Given the description of an element on the screen output the (x, y) to click on. 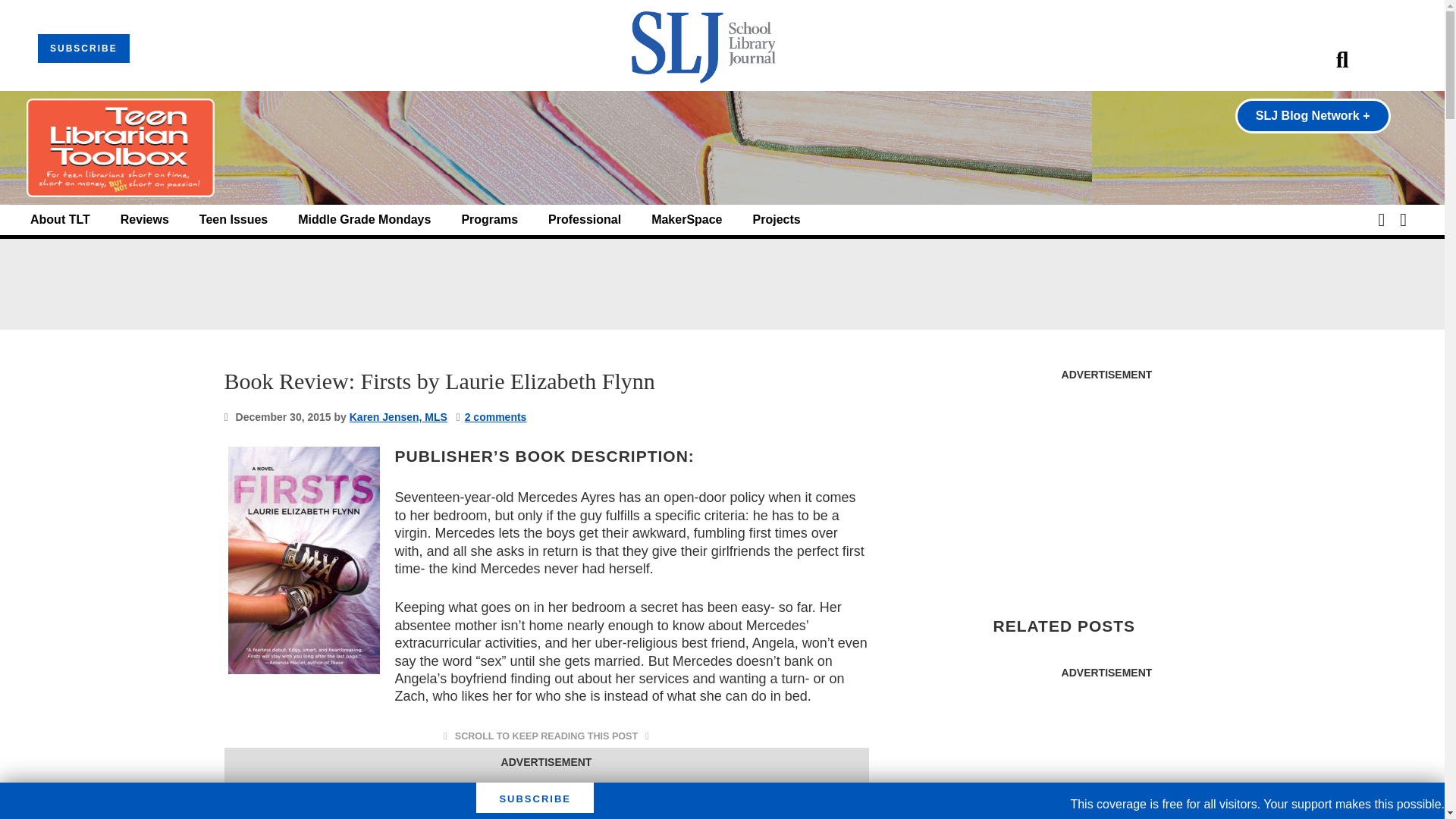
Projects (776, 219)
3rd party ad content (1106, 753)
Professional (584, 219)
3rd party ad content (721, 284)
3rd party ad content (545, 796)
SUBSCRIBE (83, 48)
Middle Grade Mondays (364, 219)
Reviews (144, 219)
Teen Issues (233, 219)
Programs (489, 219)
MakerSpace (686, 219)
SCROLL TO KEEP READING THIS POST (546, 735)
About TLT (60, 219)
3rd party ad content (1106, 483)
